Given the description of an element on the screen output the (x, y) to click on. 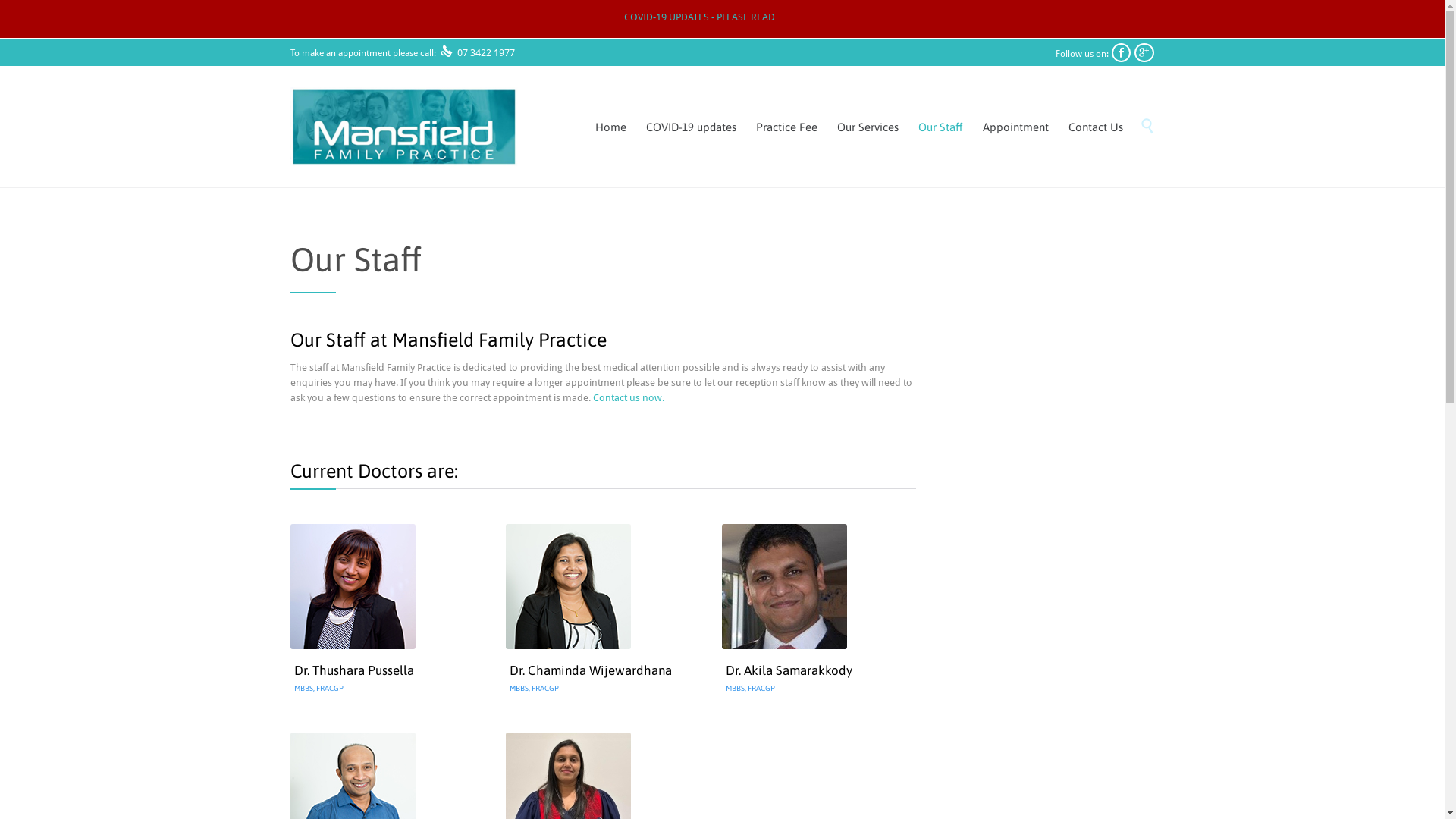
Our Staff Element type: text (940, 127)
Skip to content Element type: text (1134, 109)
COVID-19 updates Element type: text (690, 127)
Practice Fee Element type: text (786, 127)
COVID-19 UPDATES - PLEASE READ Element type: text (699, 16)
07 3422 1977 Element type: text (485, 52)
Contact Us Element type: text (1095, 127)
Home Element type: text (610, 127)
Appointment Element type: text (1014, 127)
Contact us now. Element type: text (628, 397)
Our Services Element type: text (866, 127)
Mansfield Family Practice Element type: hover (403, 126)
